Given the description of an element on the screen output the (x, y) to click on. 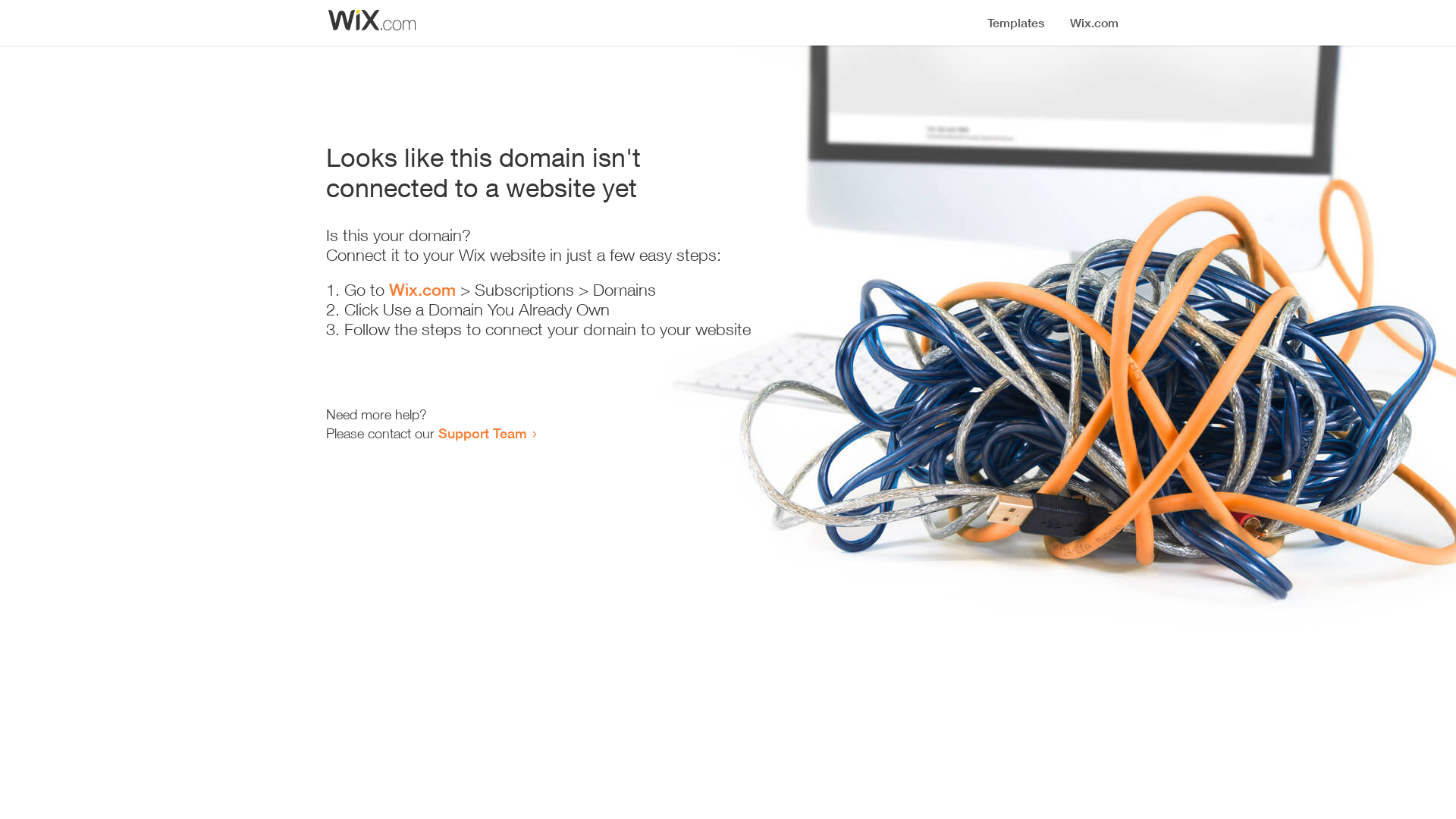
Support Team Element type: text (482, 432)
Wix.com Element type: text (422, 289)
